Given the description of an element on the screen output the (x, y) to click on. 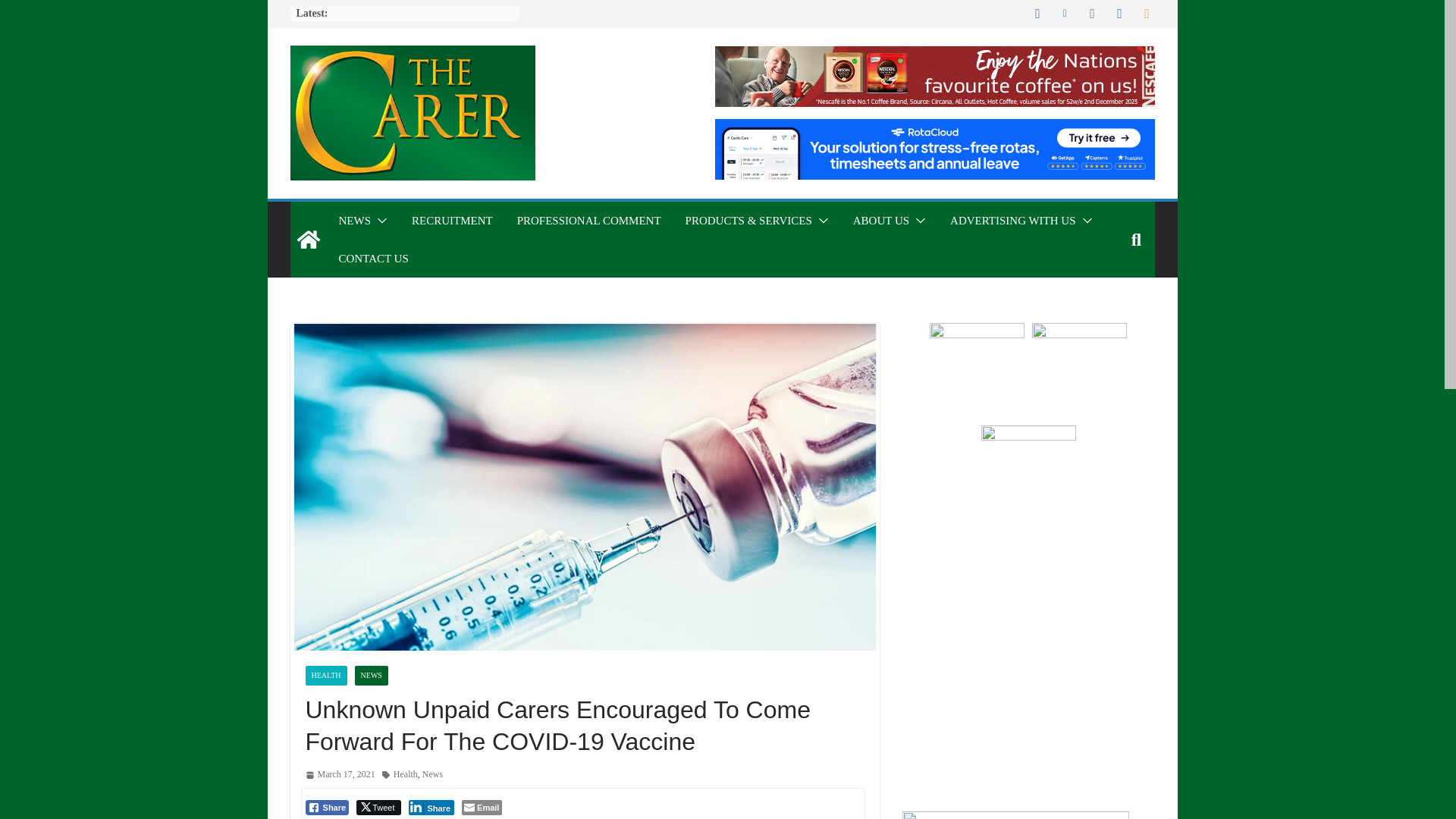
11:30 am (339, 774)
RECRUITMENT (452, 220)
The Carer (307, 239)
NEWS (354, 220)
PROFESSIONAL COMMENT (588, 220)
